Given the description of an element on the screen output the (x, y) to click on. 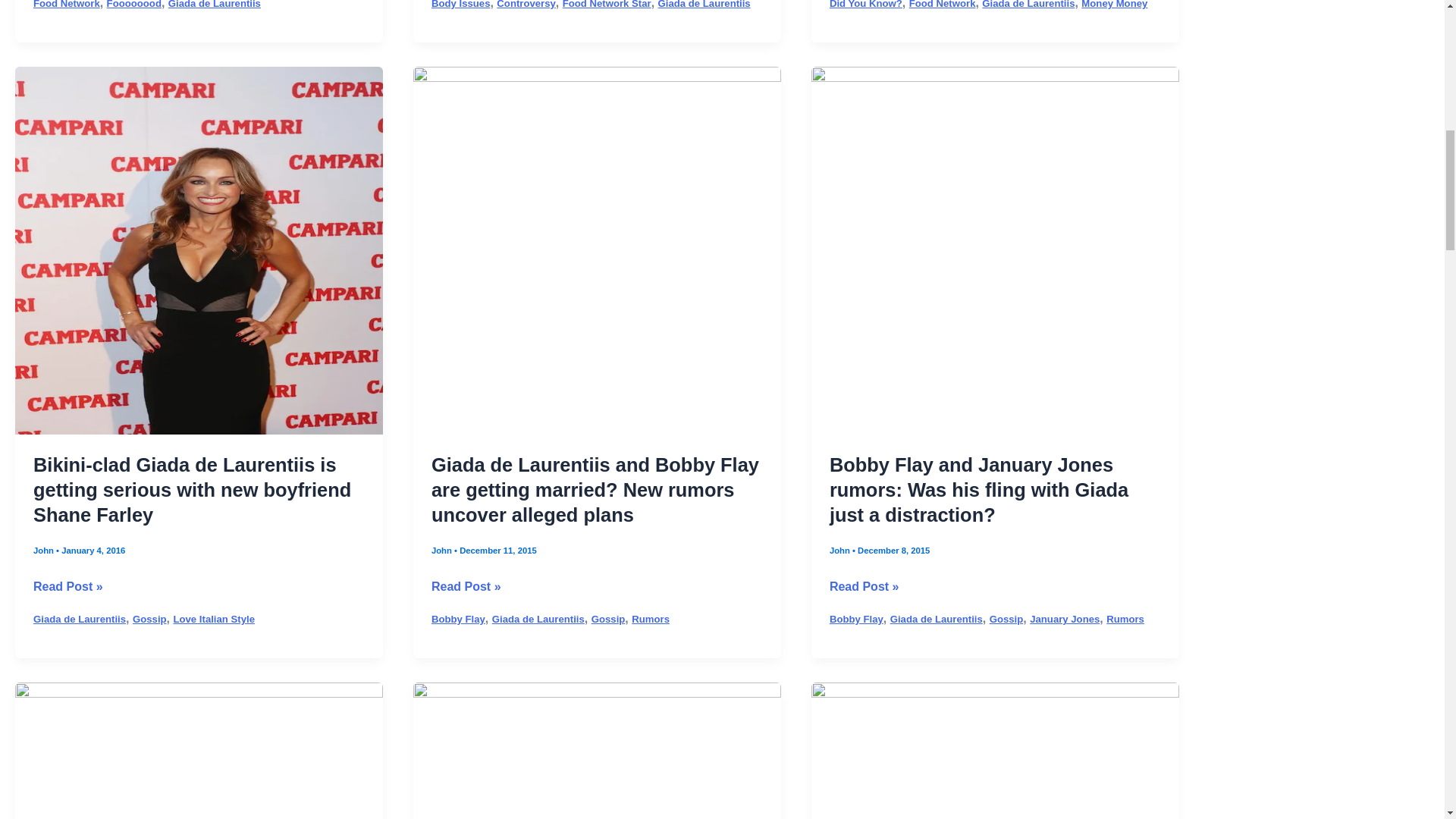
View all posts by John (44, 550)
View all posts by John (840, 550)
View all posts by John (442, 550)
